Given the description of an element on the screen output the (x, y) to click on. 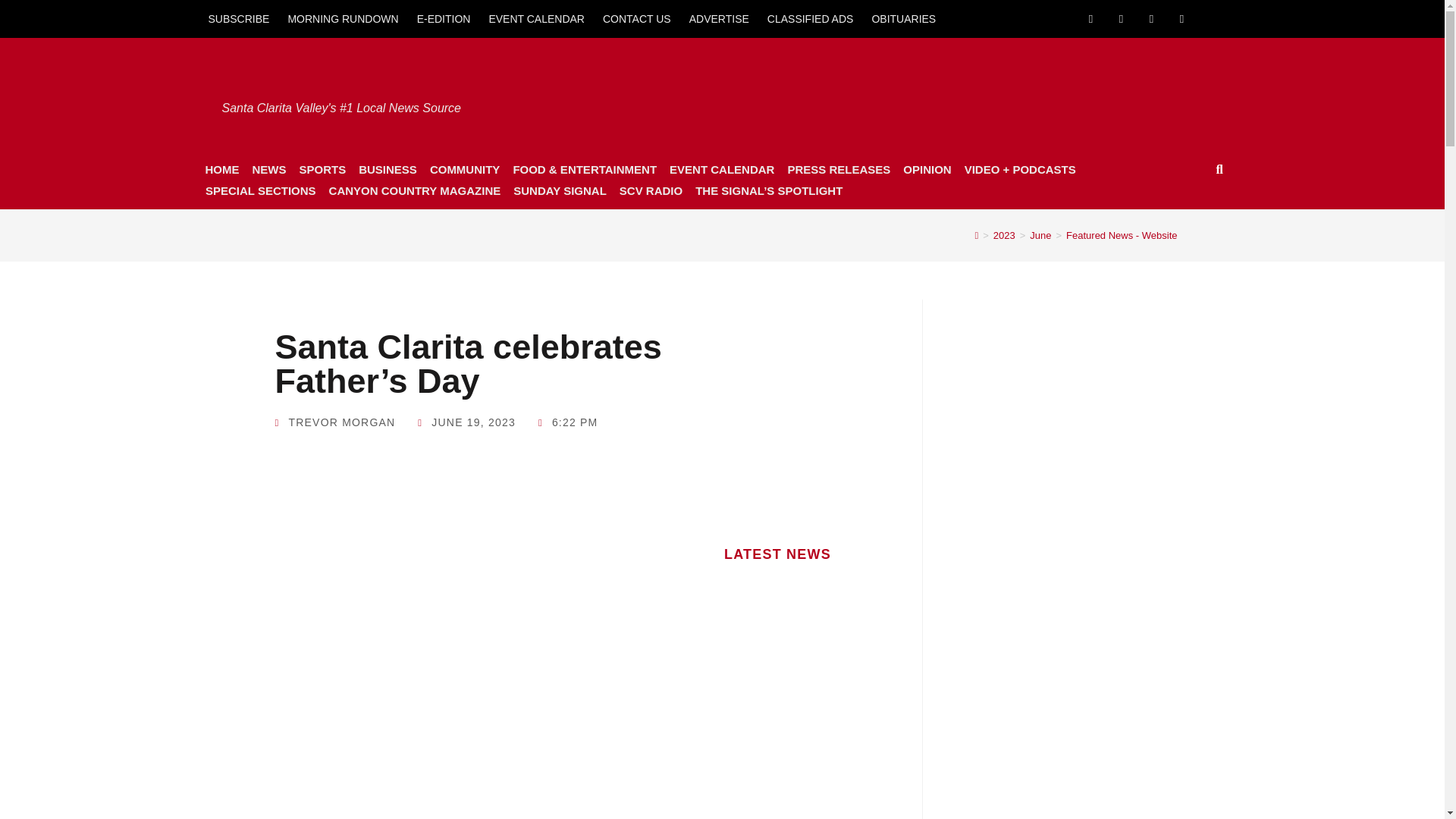
HOME (221, 169)
SPORTS (322, 169)
CONTACT US (636, 18)
ADVERTISE (718, 18)
NEWS (269, 169)
OBITUARIES (902, 18)
SUBSCRIBE (238, 18)
E-EDITION (443, 18)
MORNING RUNDOWN (342, 18)
CLASSIFIED ADS (810, 18)
EVENT CALENDAR (536, 18)
